Given the description of an element on the screen output the (x, y) to click on. 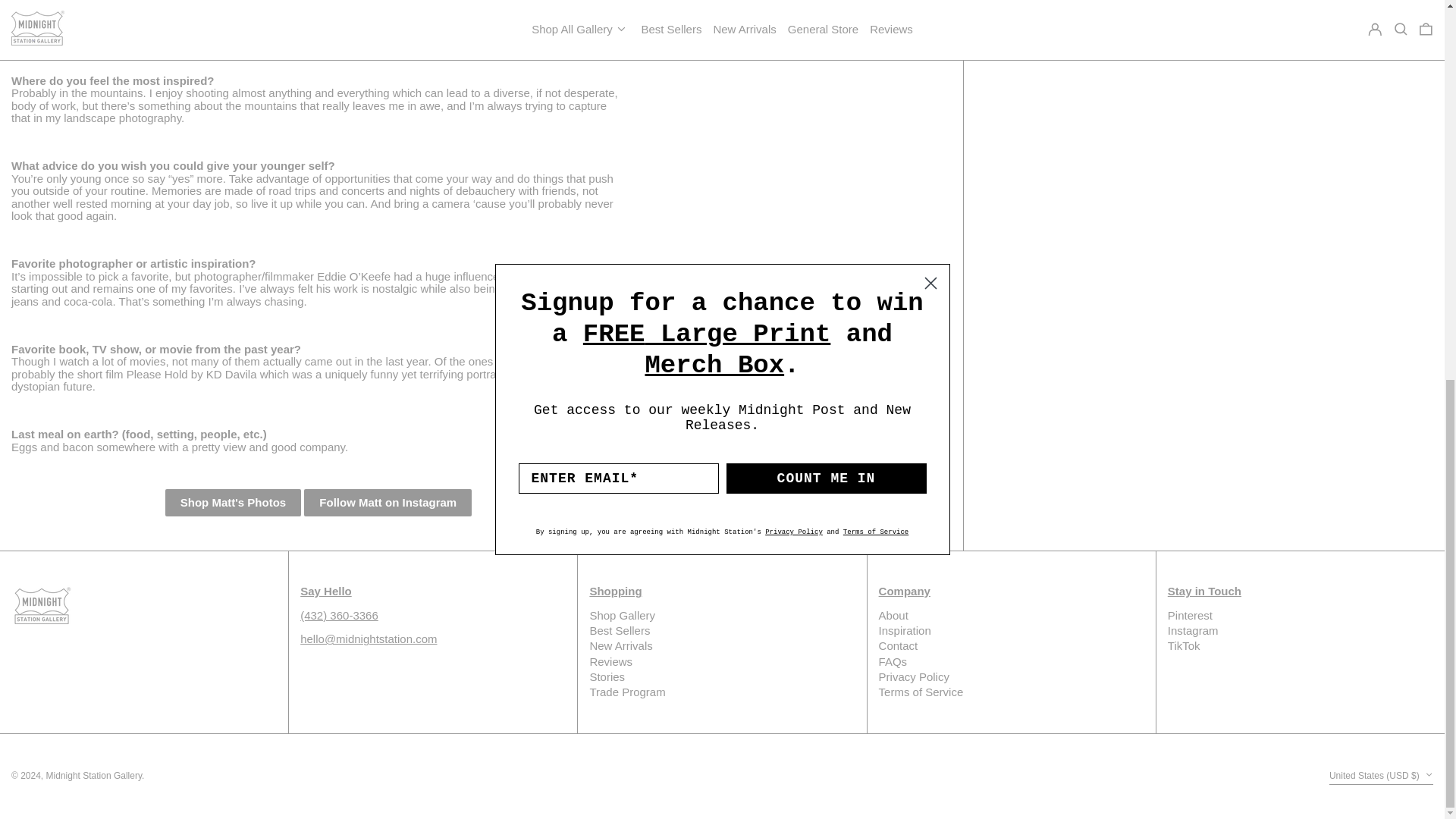
tel:4323603366 (338, 615)
